Given the description of an element on the screen output the (x, y) to click on. 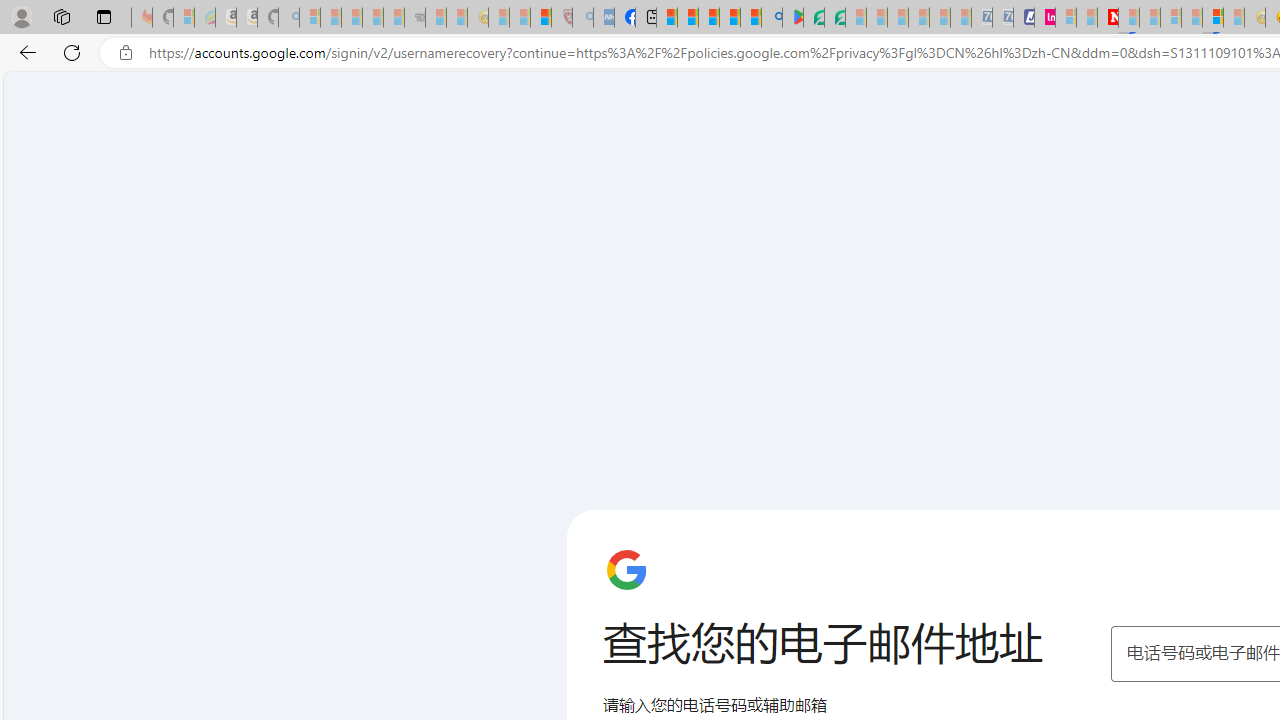
Pets - MSN (729, 17)
google - Search (771, 17)
